Given the description of an element on the screen output the (x, y) to click on. 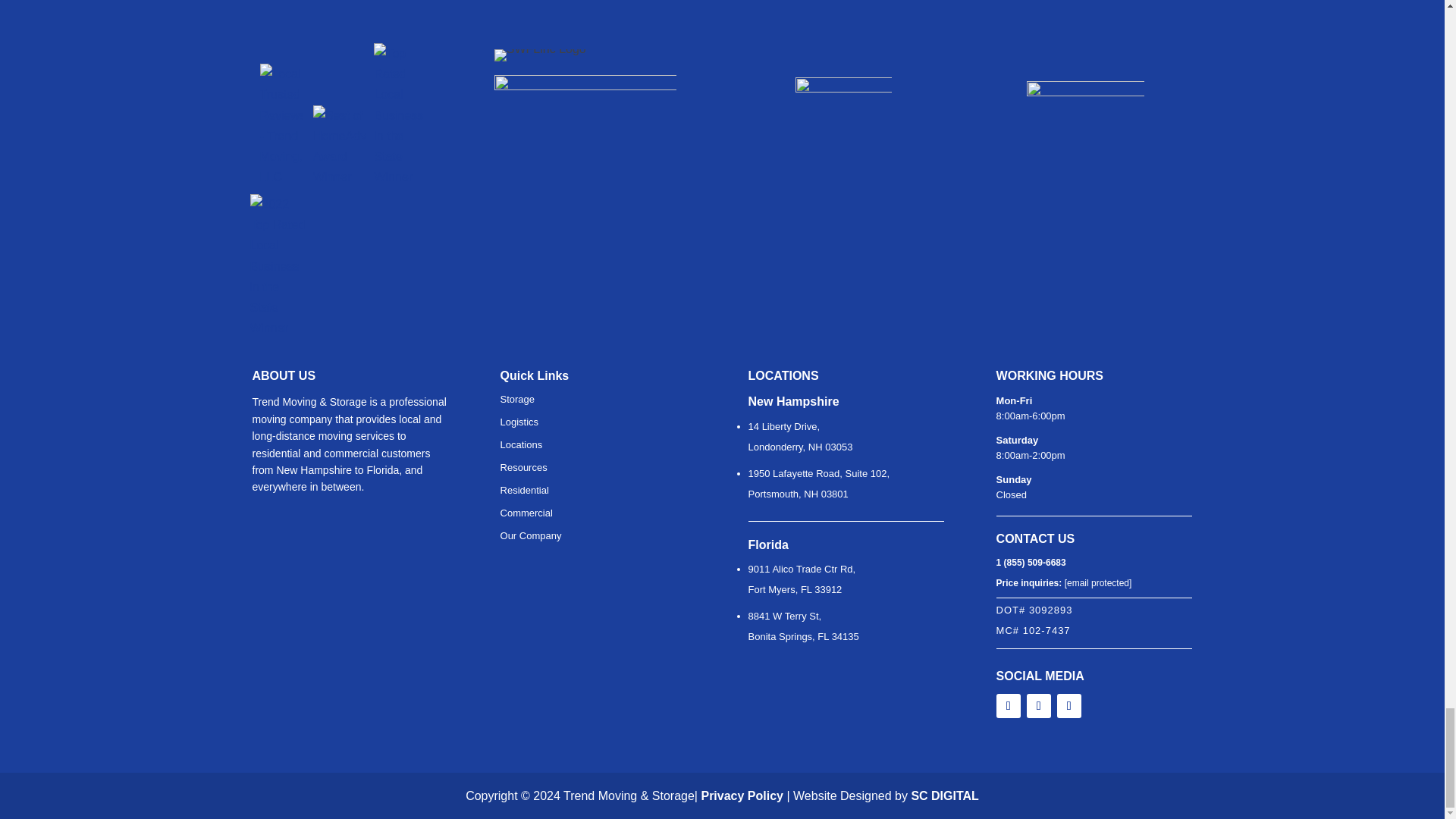
BOFL-2023-Best-Web-300x250 (1085, 33)
Angi-award-2022-trend-moving-award (843, 31)
GDL chamber Badge (586, 18)
ATA (586, 106)
SWFLinc Logo (540, 55)
homeadvisor-badges-transparent (337, 13)
